Given the description of an element on the screen output the (x, y) to click on. 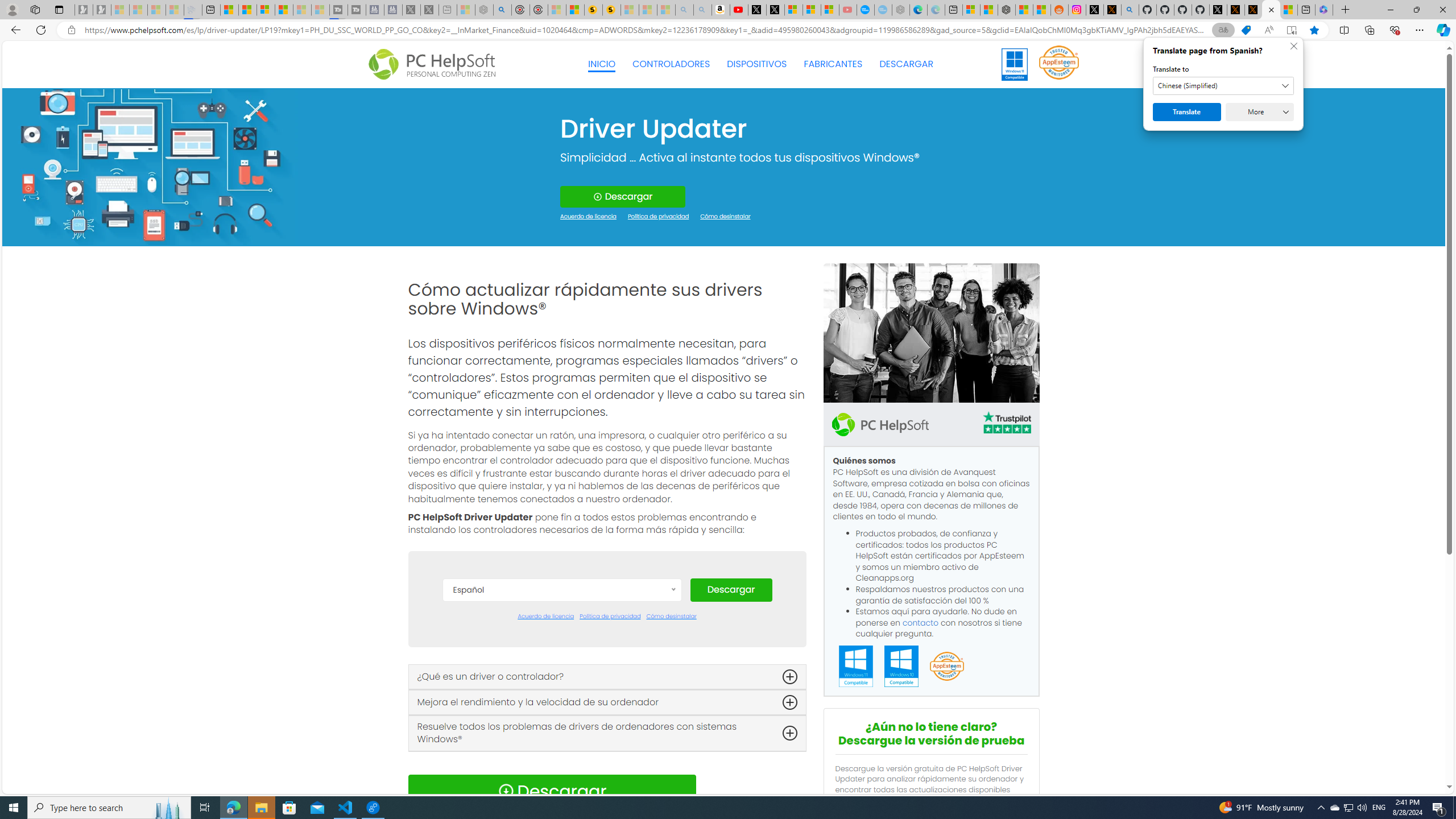
Windows 11 (1014, 64)
Acuerdo de licencia (545, 615)
More (1259, 112)
Day 1: Arriving in Yemen (surreal to be here) - YouTube (738, 9)
Gloom - YouTube - Sleeping (847, 9)
CONTROLADORES (670, 64)
Descarga Driver Updater (1270, 9)
Enter Immersive Reader (F9) (1291, 29)
Nordace - Duffels (1006, 9)
DESCARGAR (906, 64)
